Given the description of an element on the screen output the (x, y) to click on. 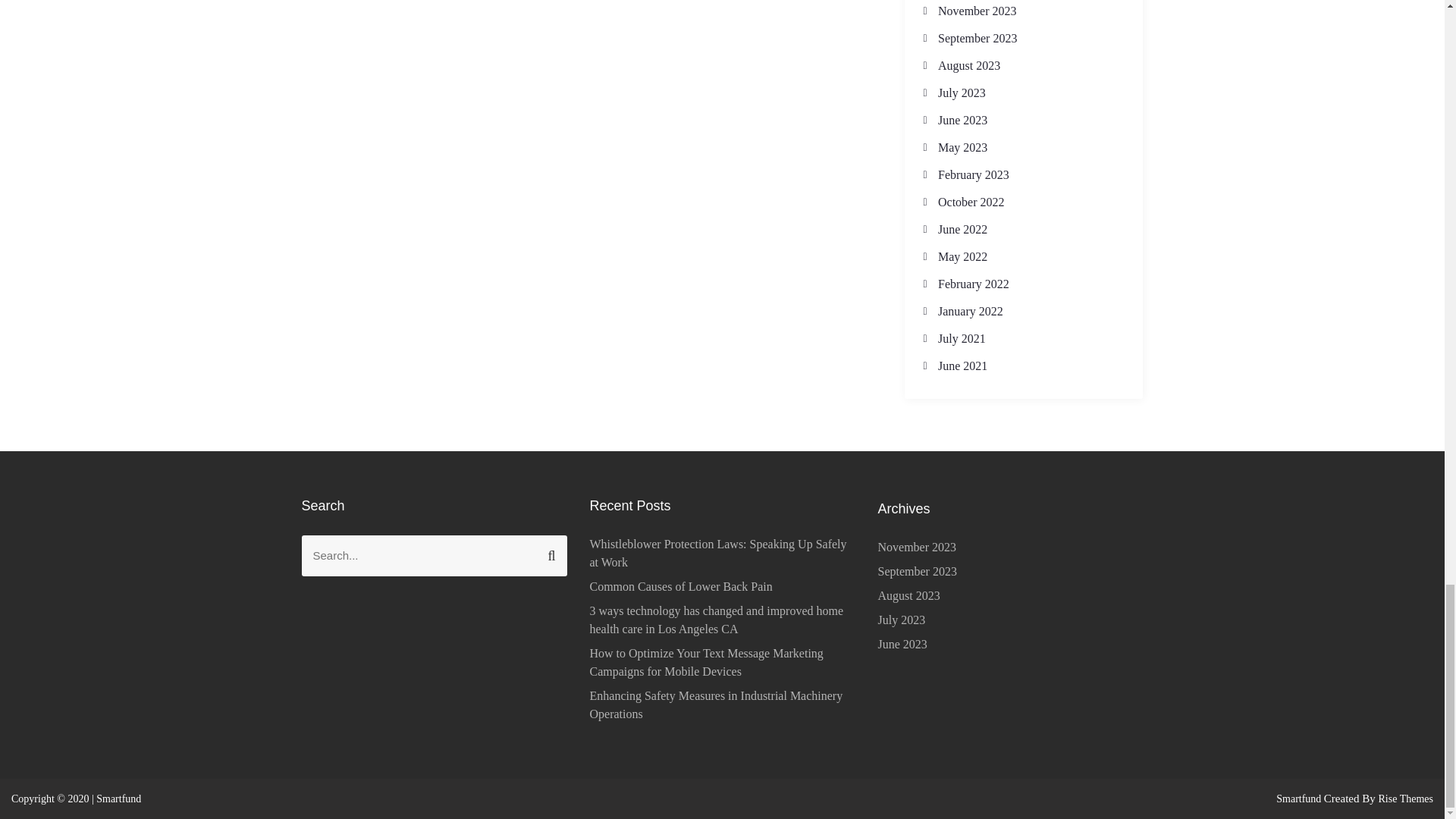
November 2023 (976, 10)
September 2023 (976, 38)
July 2023 (961, 92)
August 2023 (968, 65)
